Given the description of an element on the screen output the (x, y) to click on. 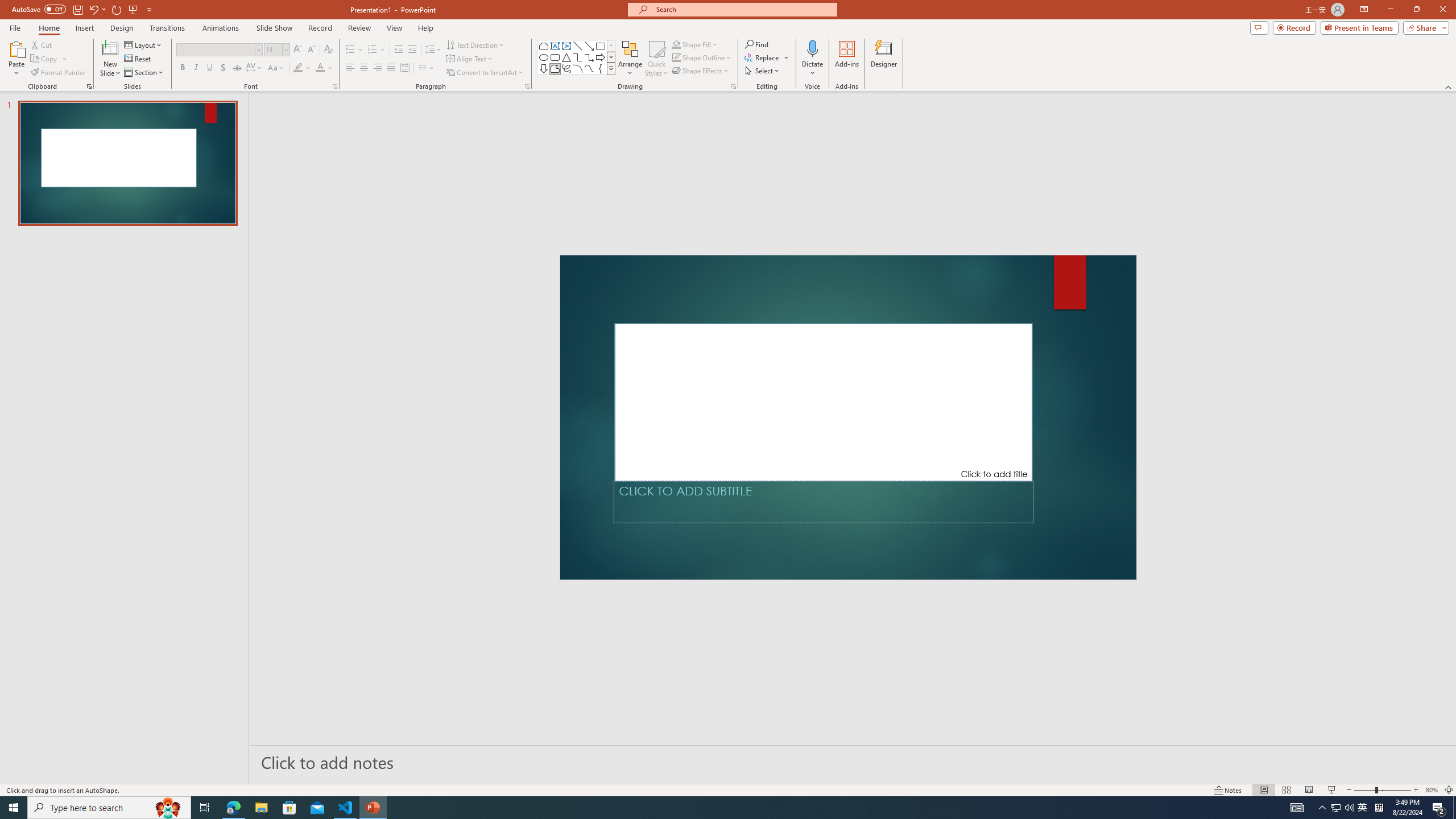
Rectangle: Top Corners Snipped (543, 45)
